Given the description of an element on the screen output the (x, y) to click on. 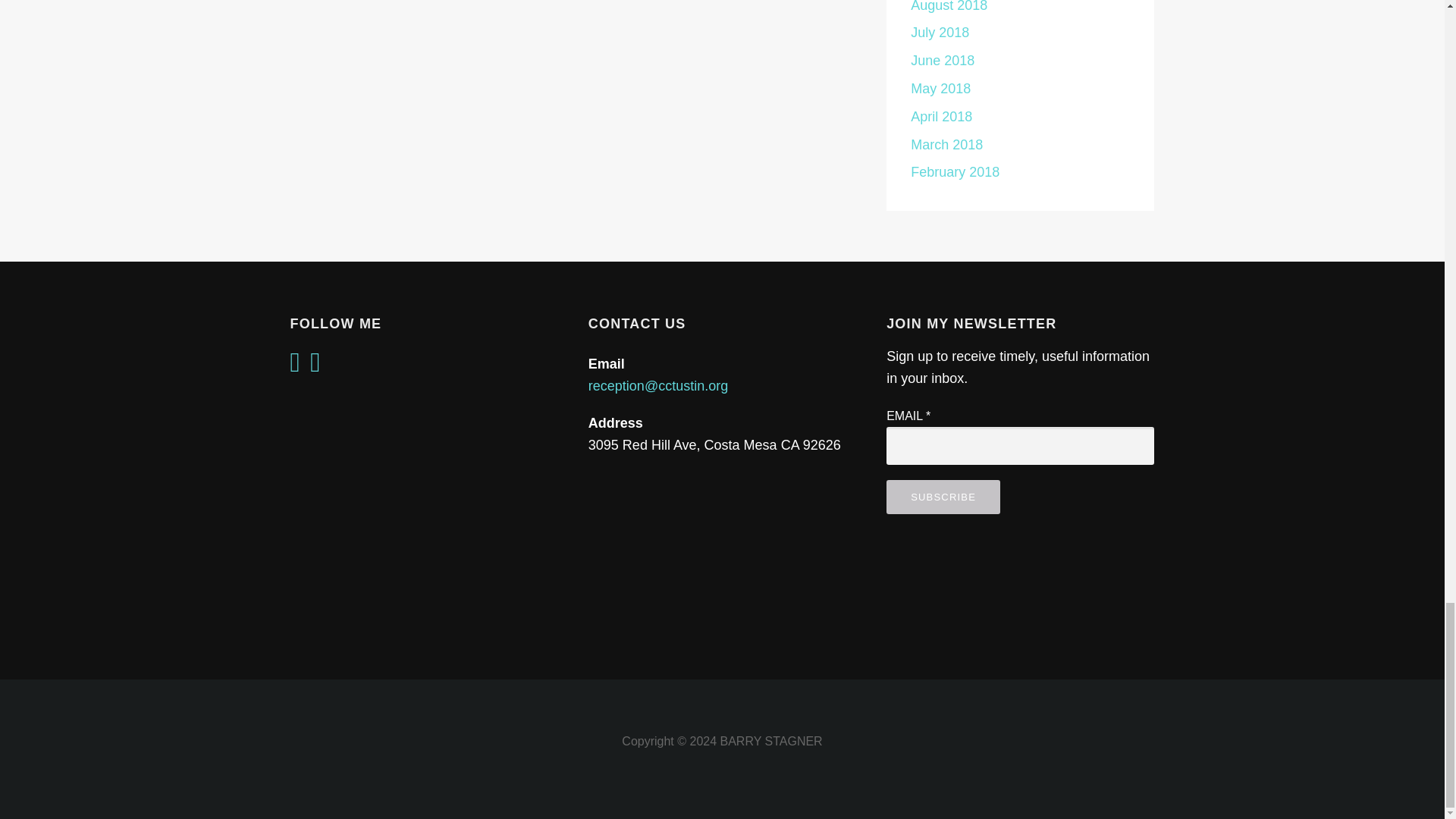
Visit BARRY STAGNER on Facebook (315, 366)
Visit BARRY STAGNER on Twitter (294, 366)
Subscribe (943, 496)
